Given the description of an element on the screen output the (x, y) to click on. 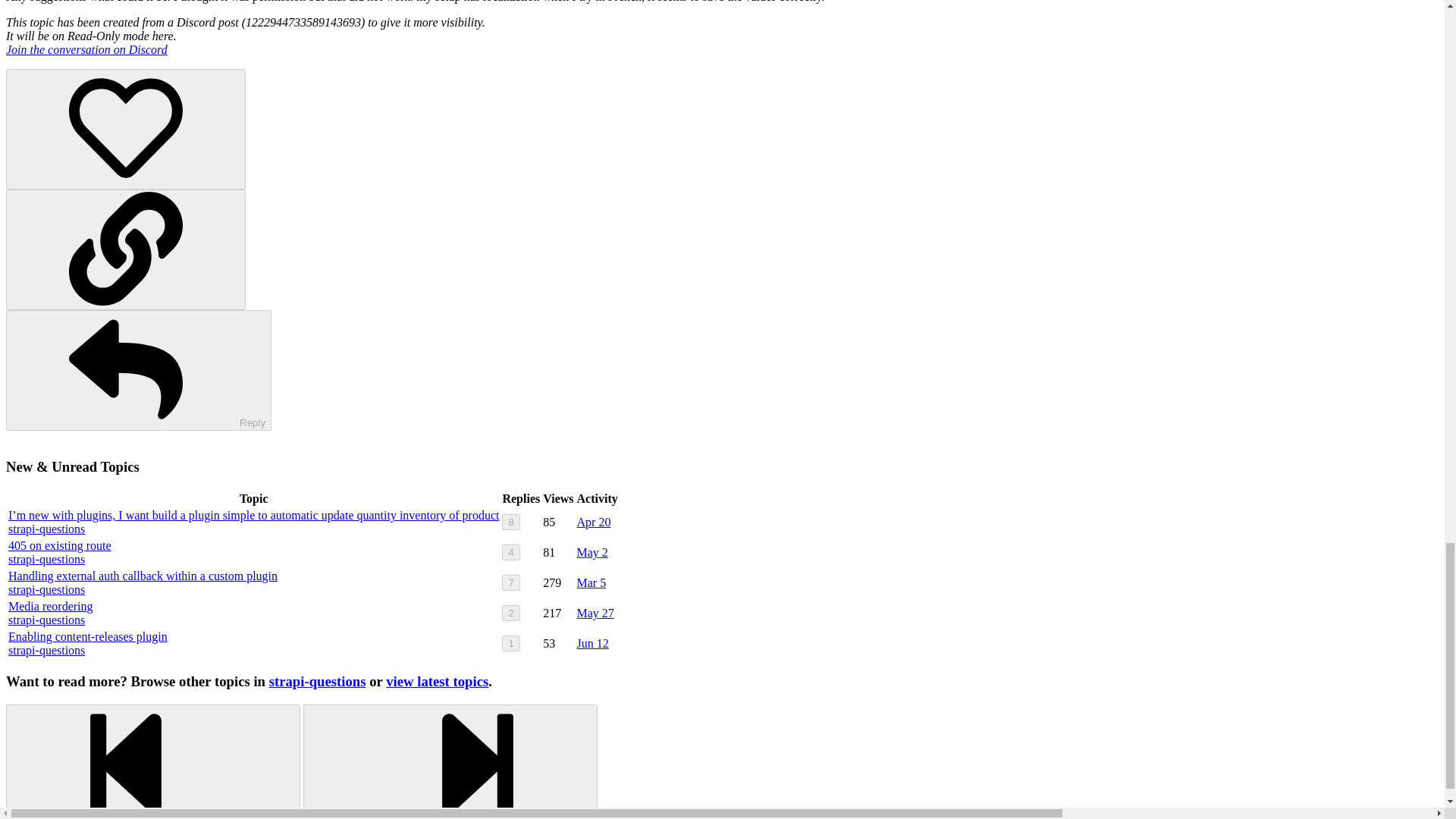
strapi-questions (46, 589)
like this post (125, 128)
May 2 (592, 552)
Apr 20 (593, 521)
strapi-questions (46, 619)
strapi-questions (46, 558)
405 on existing route (60, 545)
4 (510, 552)
Mar 5 (591, 582)
strapi-questions (46, 528)
Media reordering (50, 605)
8 (510, 521)
Reply (137, 370)
Join the conversation on Discord (86, 49)
copy a link to this post to clipboard (125, 249)
